Given the description of an element on the screen output the (x, y) to click on. 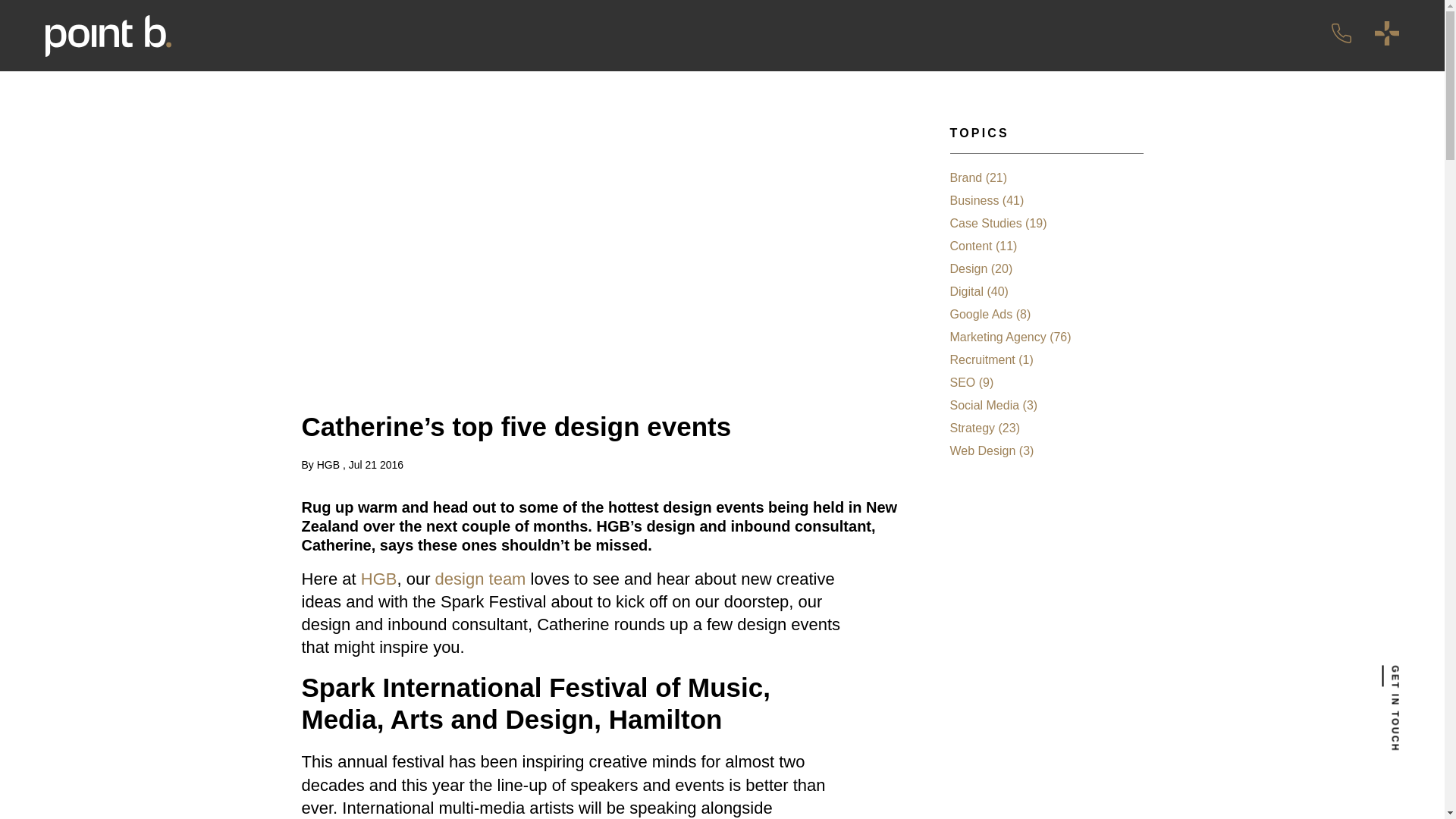
HGB (379, 579)
design team (480, 579)
